Given the description of an element on the screen output the (x, y) to click on. 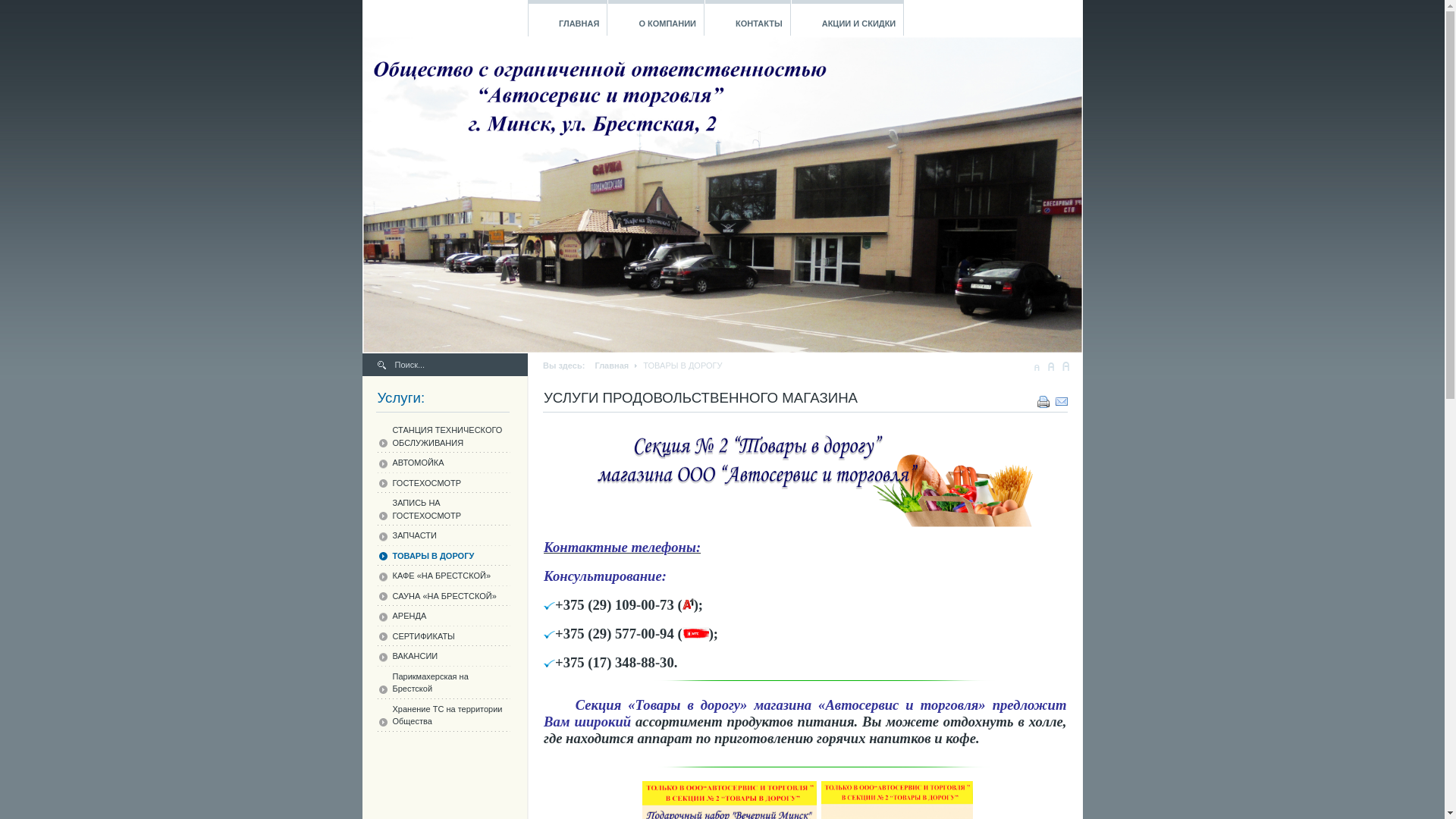
Default size Element type: hover (1050, 365)
Increase font size Element type: hover (1065, 365)
E-mail Element type: hover (1061, 398)
Decrease font size Element type: hover (1036, 365)
